Given the description of an element on the screen output the (x, y) to click on. 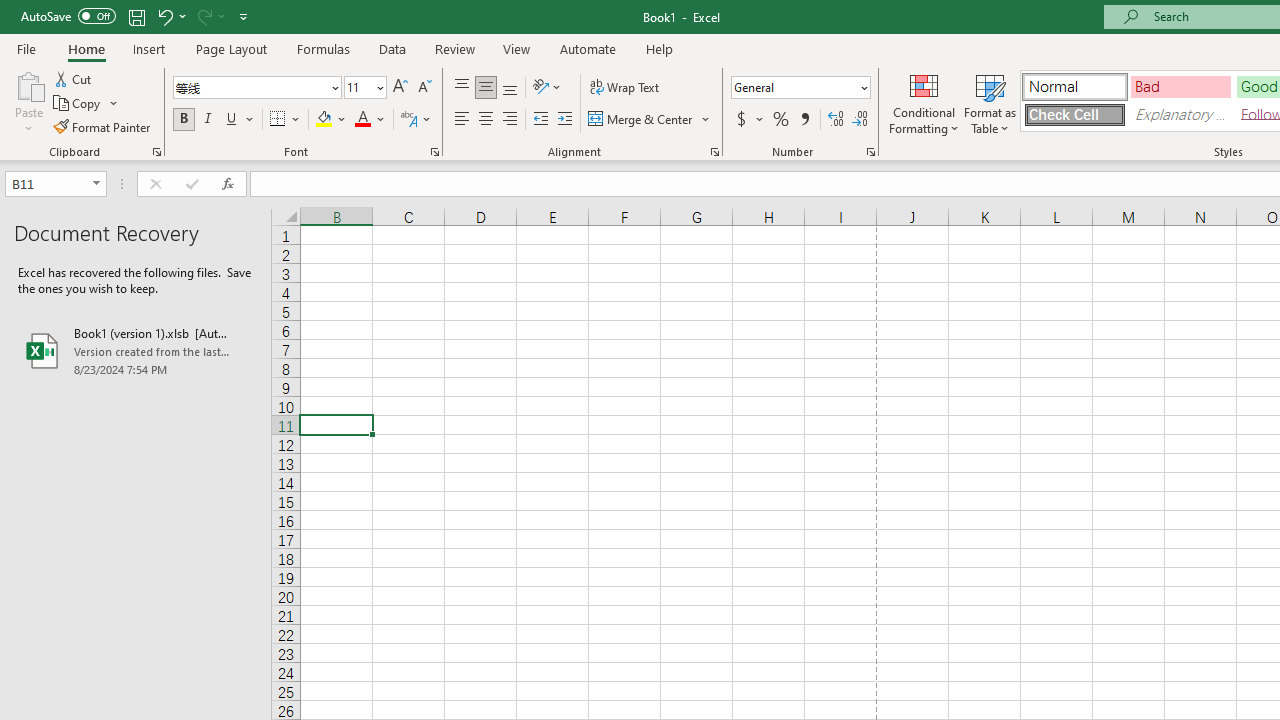
Format as Table (990, 102)
Center (485, 119)
Font (256, 87)
Bad (1180, 86)
